Given the description of an element on the screen output the (x, y) to click on. 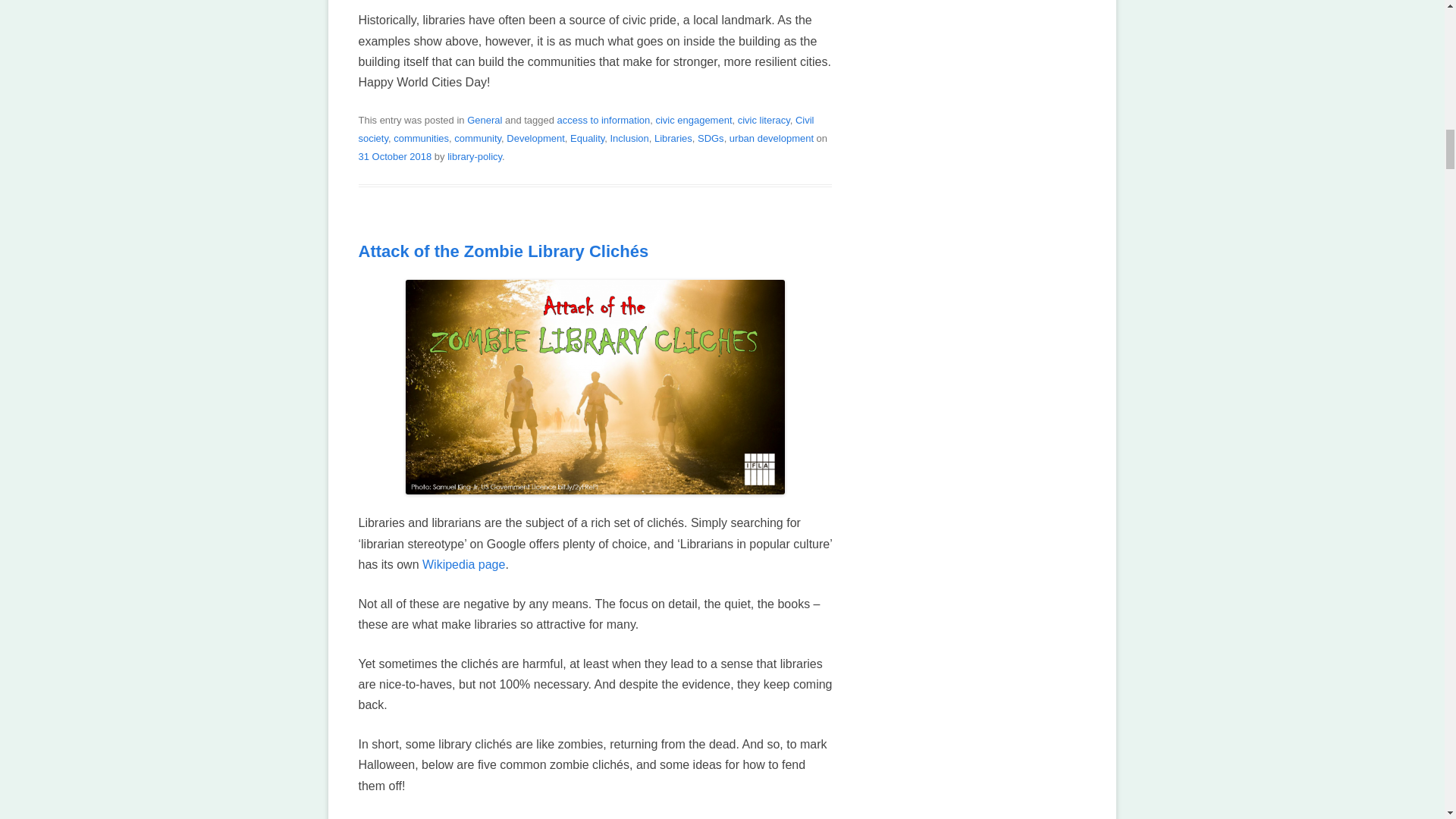
View all posts by library-policy (474, 156)
Equality (587, 138)
Libraries (673, 138)
communities (420, 138)
civic literacy (764, 120)
General (484, 120)
library-policy (474, 156)
Inclusion (628, 138)
SDGs (710, 138)
09:41 (394, 156)
urban development (771, 138)
civic engagement (693, 120)
community (477, 138)
Civil society (585, 129)
31 October 2018 (394, 156)
